Given the description of an element on the screen output the (x, y) to click on. 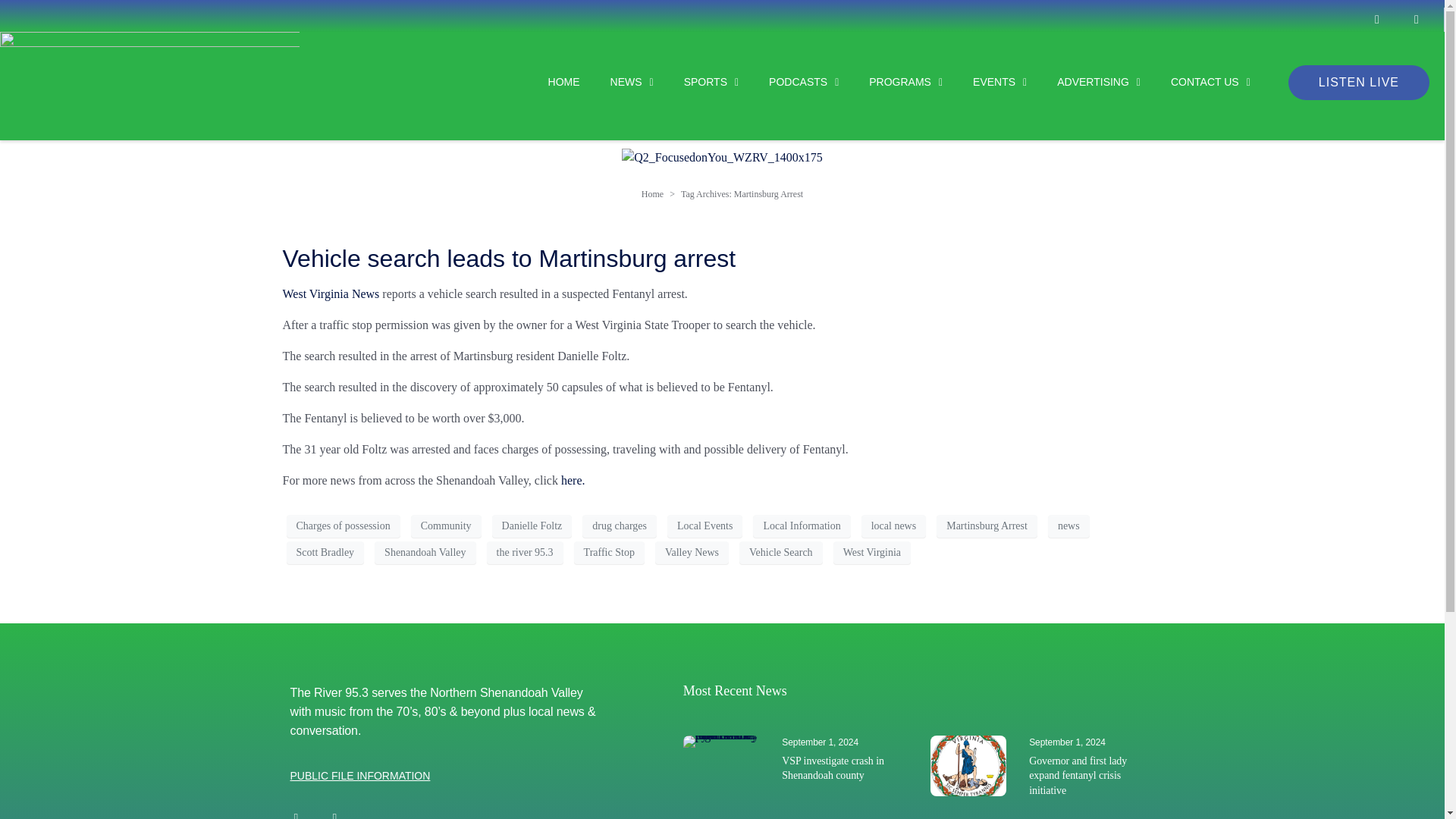
Vehicle search leads to Martinsburg arrest (508, 257)
NEWS (616, 82)
HOME (548, 82)
PROGRAMS (890, 82)
SPORTS (695, 82)
PODCASTS (788, 82)
